Given the description of an element on the screen output the (x, y) to click on. 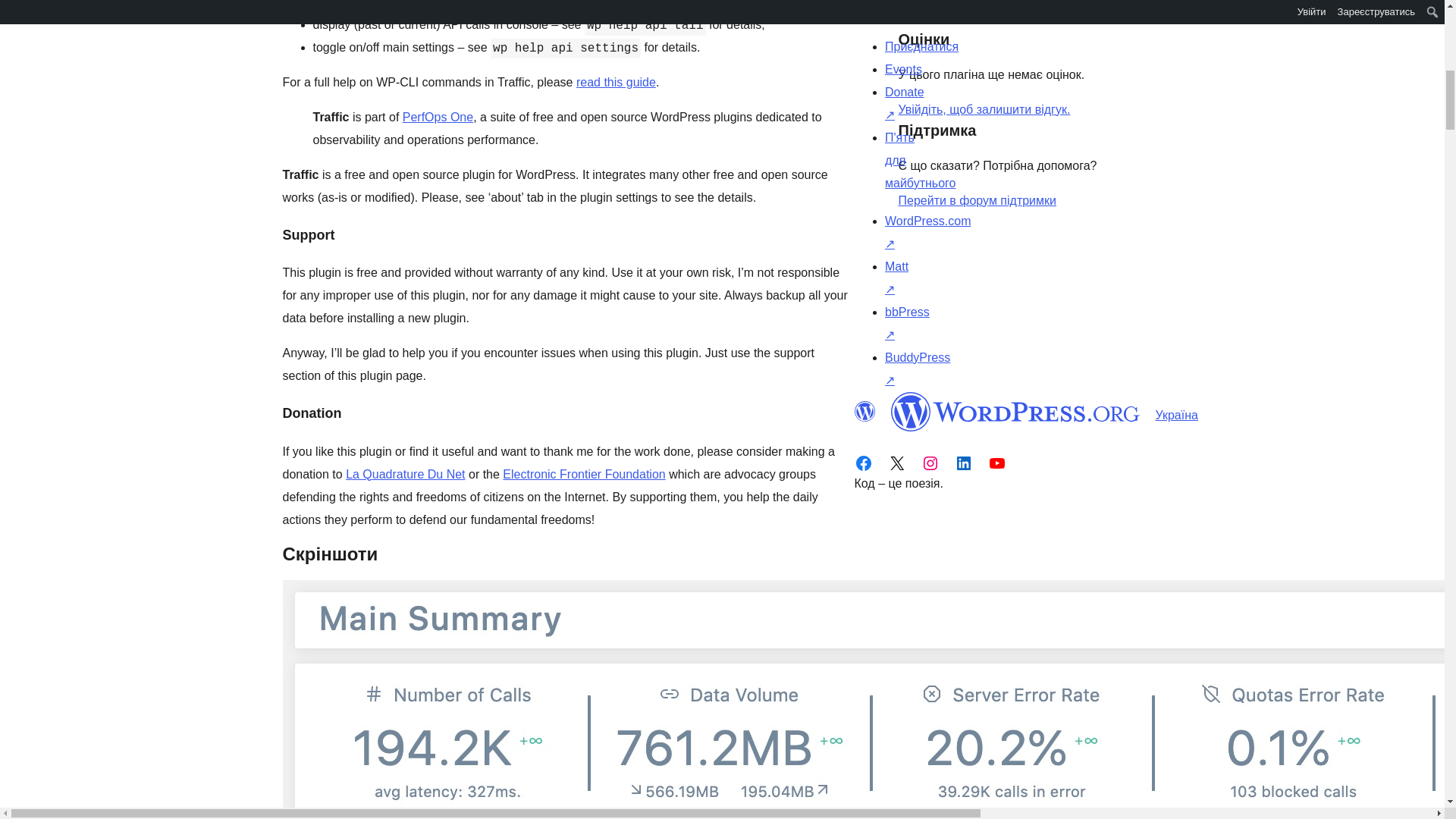
WordPress.org (864, 411)
PerfOps One (438, 116)
Electronic Frontier Foundation (583, 473)
La Quadrature Du Net (405, 473)
read this guide (616, 82)
WordPress.org (1014, 411)
